Given the description of an element on the screen output the (x, y) to click on. 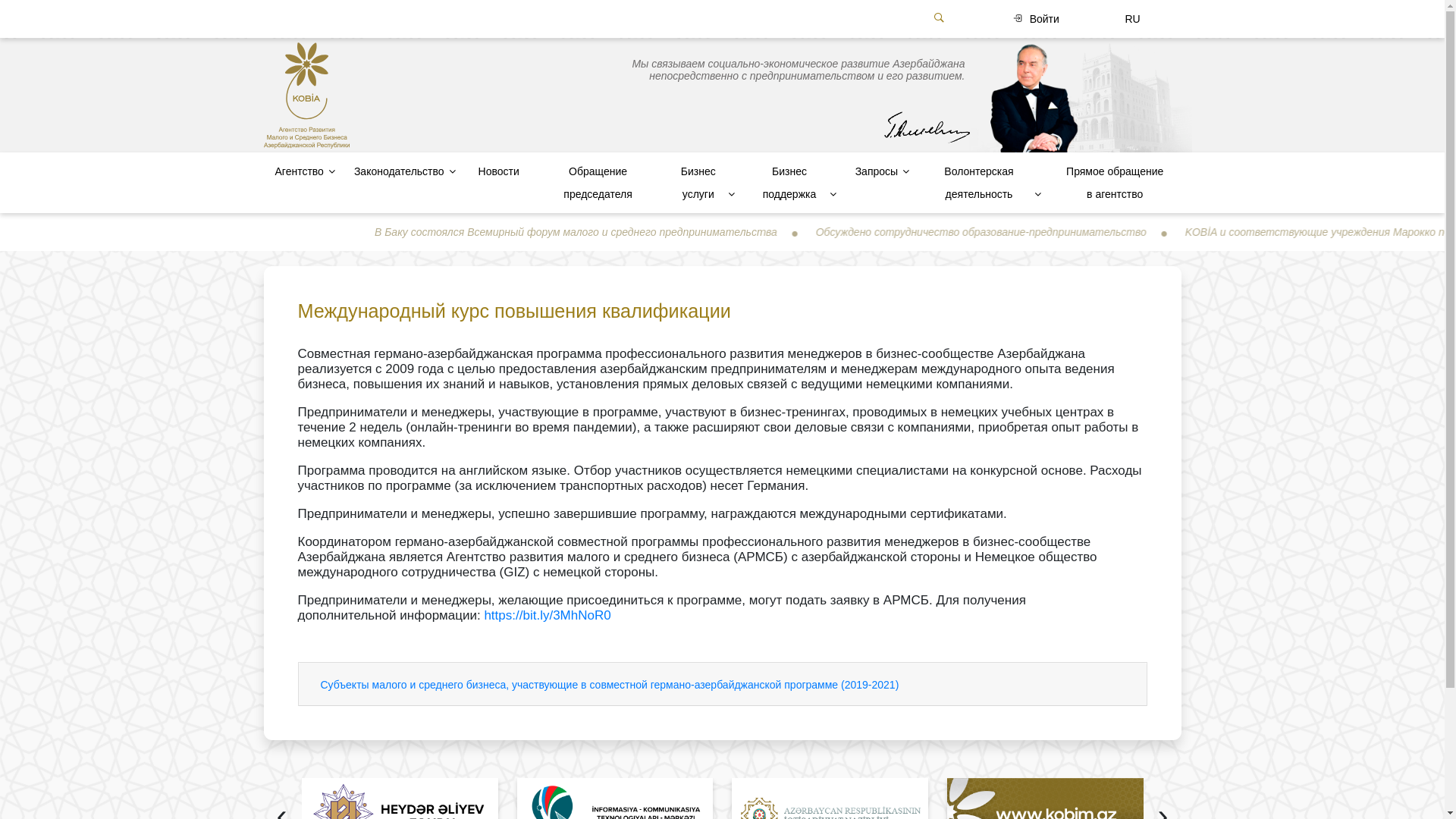
https://bit.ly/3MhNoR0 Element type: text (546, 614)
